Given the description of an element on the screen output the (x, y) to click on. 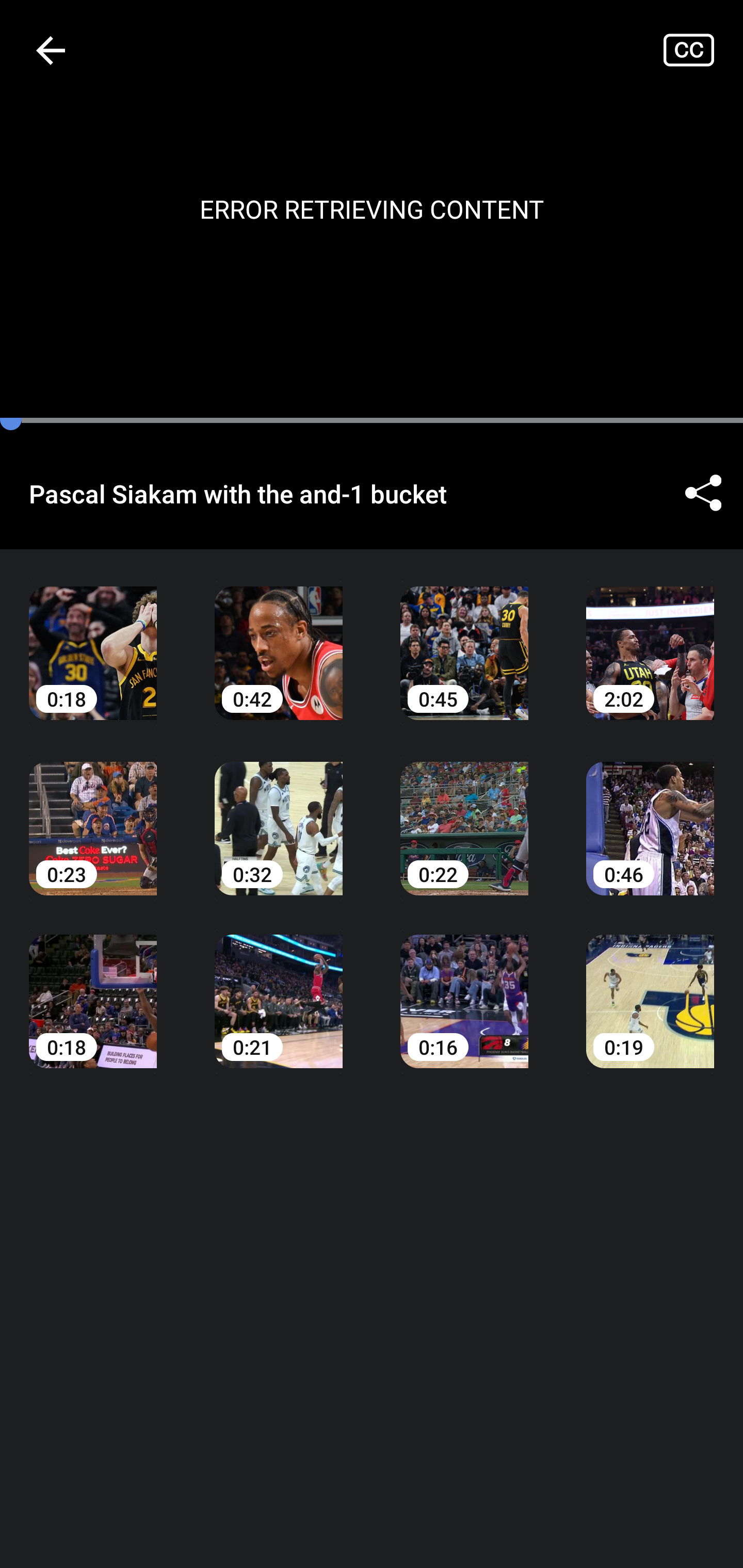
Navigate up (50, 50)
Closed captions  (703, 49)
Share © (703, 493)
0:18 (92, 637)
0:42 (278, 637)
0:45 (464, 637)
2:02 (650, 637)
0:23 (92, 813)
0:32 (278, 813)
0:22 (464, 813)
0:46 (650, 813)
0:18 (92, 987)
0:21 (278, 987)
0:16 (464, 987)
0:19 (650, 987)
